Given the description of an element on the screen output the (x, y) to click on. 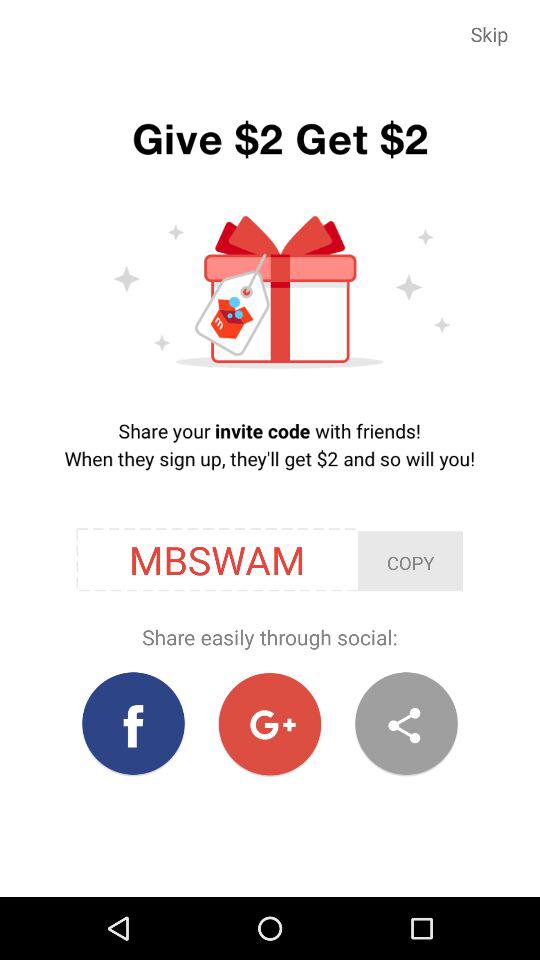
turn off item to the right of the mbswam item (410, 561)
